Given the description of an element on the screen output the (x, y) to click on. 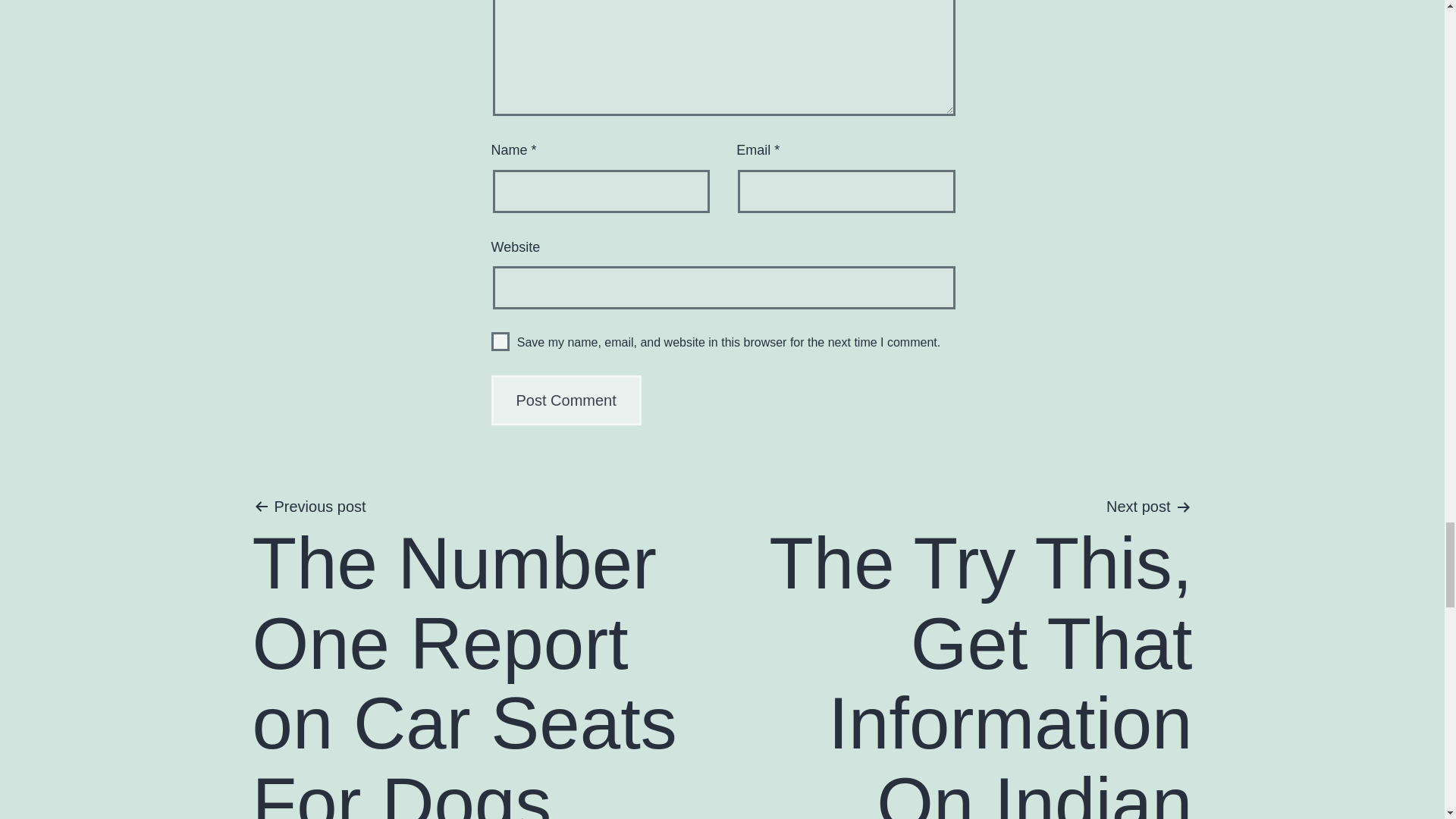
Post Comment (567, 400)
Post Comment (567, 400)
